Given the description of an element on the screen output the (x, y) to click on. 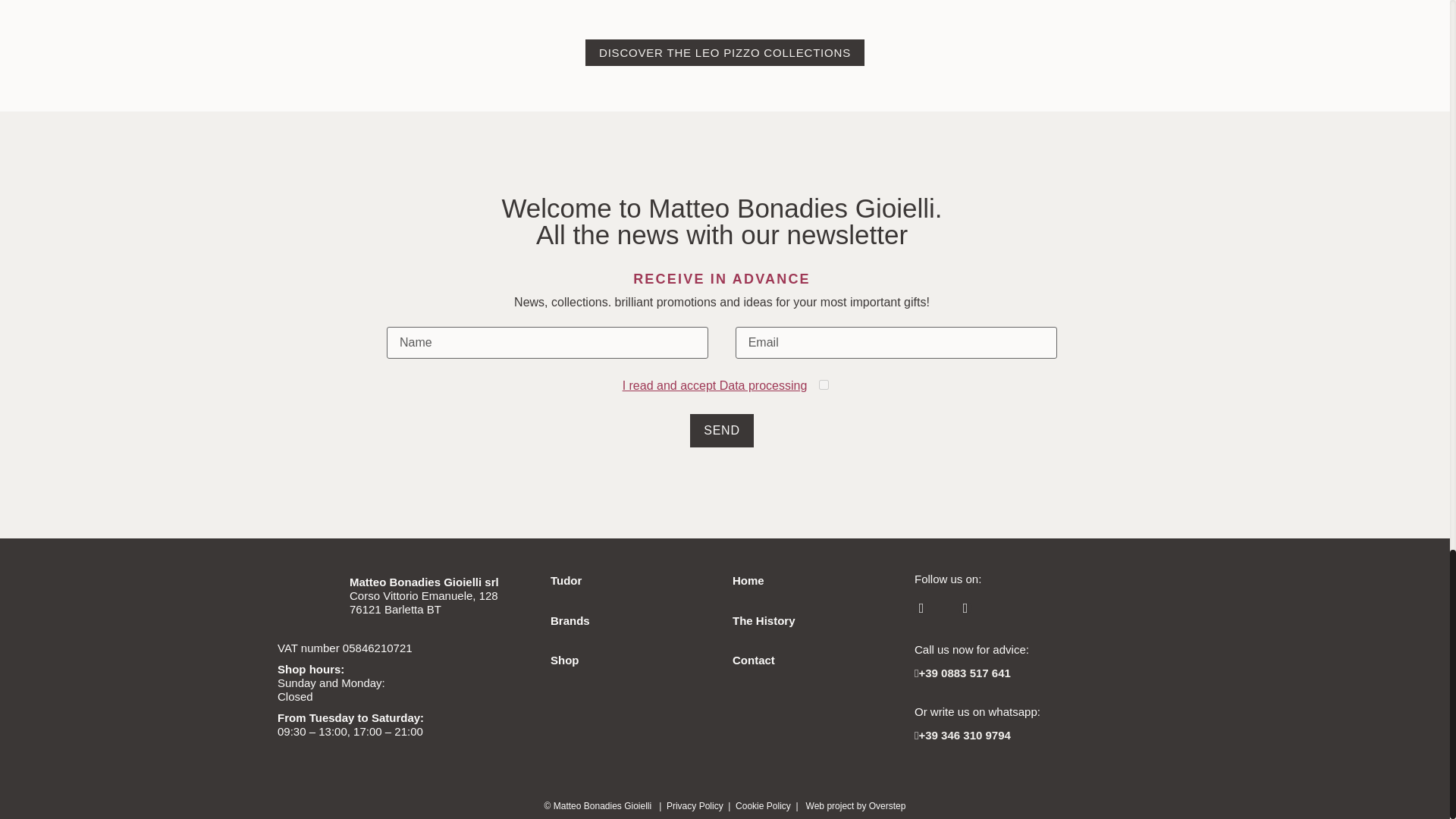
Cookie Policy  (762, 805)
Privacy Policy  (694, 805)
Send (722, 430)
DISCOVER THE LEO PIZZO COLLECTIONS (724, 52)
